Given the description of an element on the screen output the (x, y) to click on. 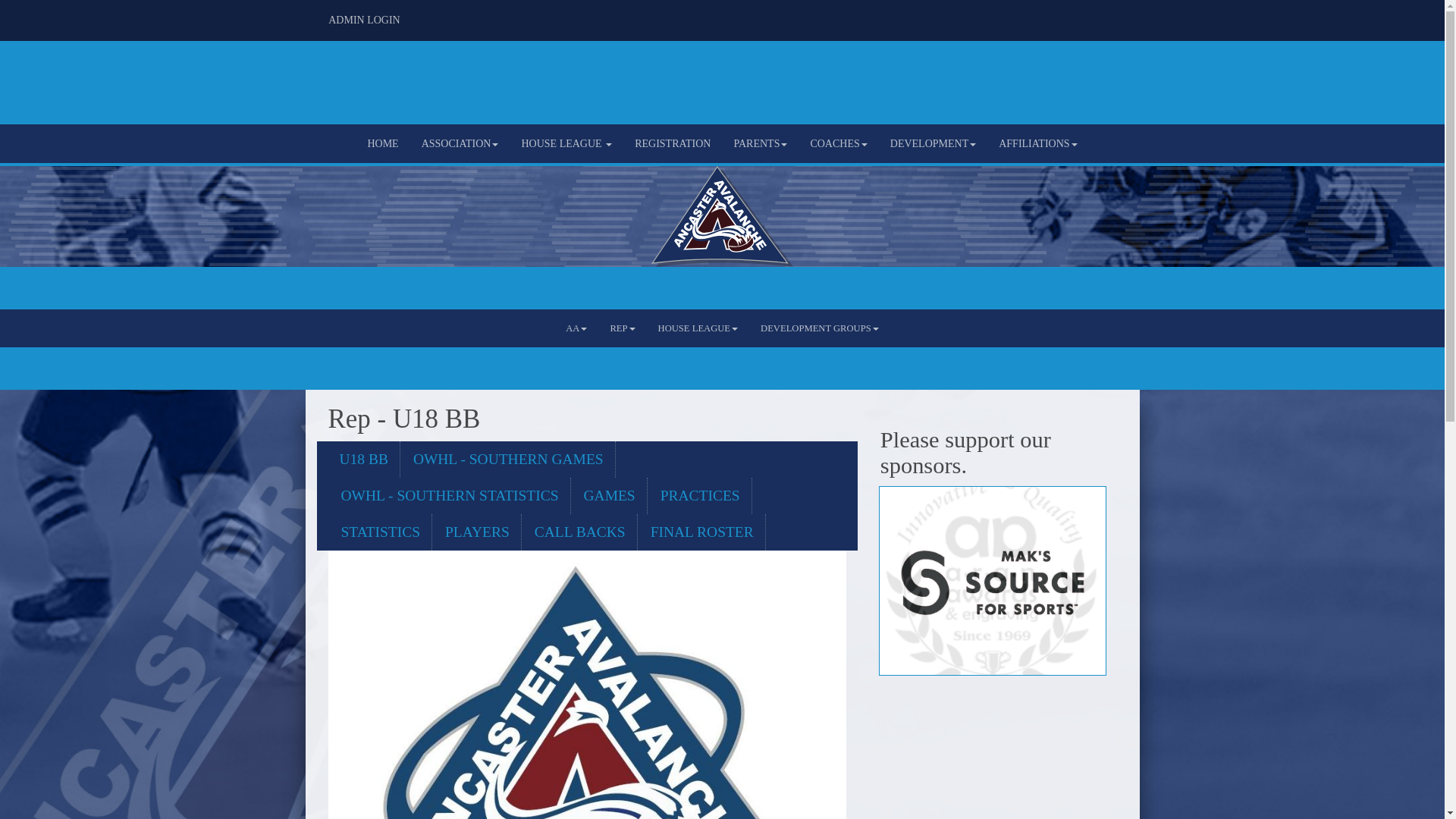
Facebook Element type: text (1084, 15)
HOUSE LEAGUE Element type: text (566, 144)
OWHL - SOUTHERN GAMES Element type: text (508, 459)
DEVELOPMENT Element type: text (932, 144)
DEVELOPMENT GROUPS Element type: text (819, 328)
FINAL ROSTER Element type: text (702, 532)
PARENTS Element type: text (759, 144)
PRACTICES Element type: text (700, 495)
ASSOCIATION Element type: text (460, 144)
REP Element type: text (622, 328)
CALL BACKS Element type: text (580, 532)
HOUSE LEAGUE Element type: text (697, 328)
REGISTRATION Element type: text (672, 144)
U18 BB Element type: text (363, 459)
HOME Element type: text (382, 144)
STATISTICS Element type: text (380, 532)
Instagram Element type: text (1106, 15)
GAMES Element type: text (609, 495)
COACHES Element type: text (838, 144)
PLAYERS Element type: text (477, 532)
OWHL - SOUTHERN STATISTICS Element type: text (449, 495)
AFFILIATIONS Element type: text (1037, 144)
AA Element type: text (576, 328)
 ADMIN LOGIN
ADMIN LOGIN Element type: text (363, 20)
